Given the description of an element on the screen output the (x, y) to click on. 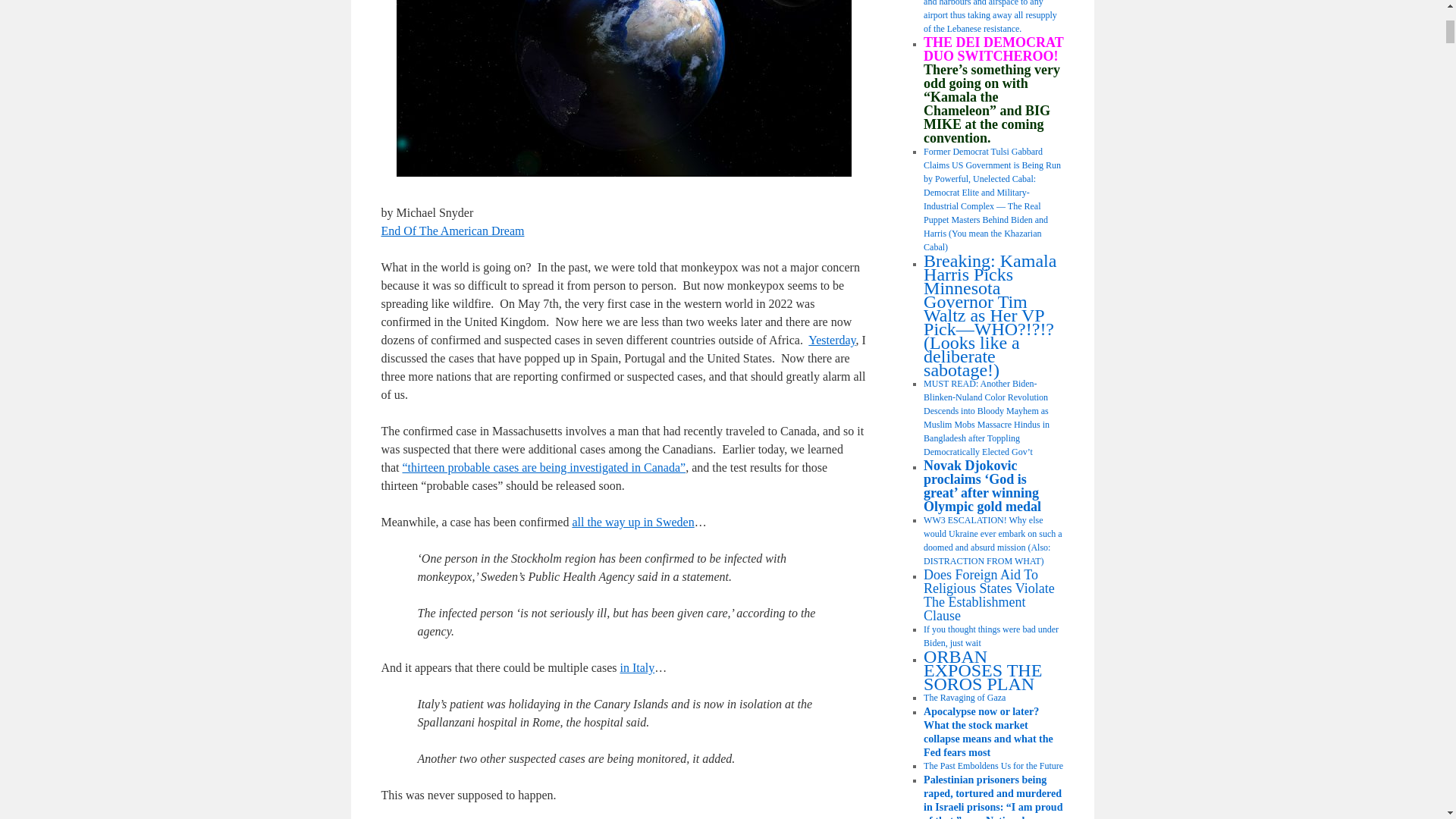
all the way up in Sweden (633, 521)
 End Of The American Dream  (452, 230)
in Italy (637, 667)
Yesterday (832, 339)
